Given the description of an element on the screen output the (x, y) to click on. 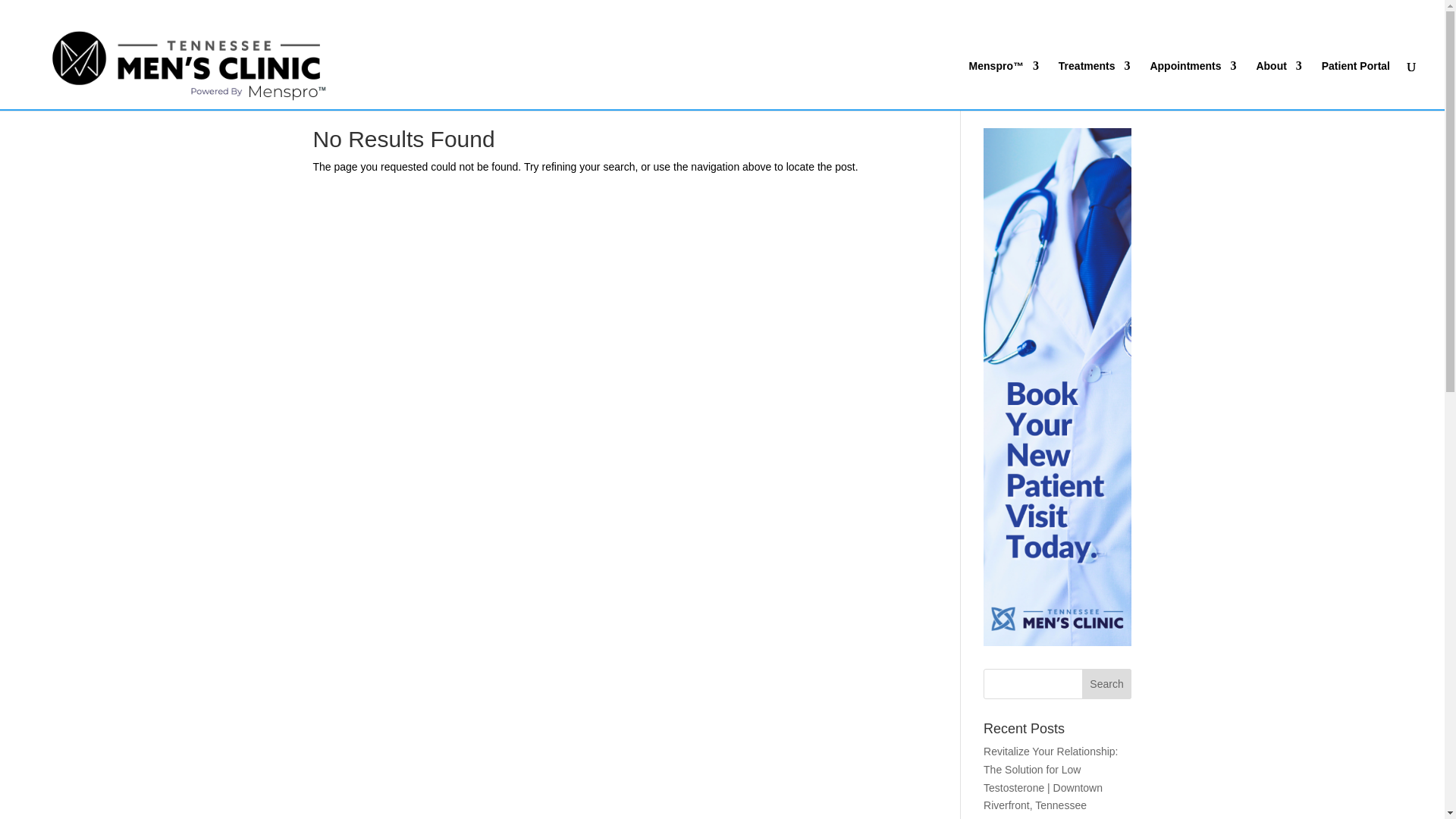
Search (1106, 684)
Patient Portal (1356, 84)
Treatments (1094, 84)
Appointments (1193, 84)
About (1278, 84)
